Given the description of an element on the screen output the (x, y) to click on. 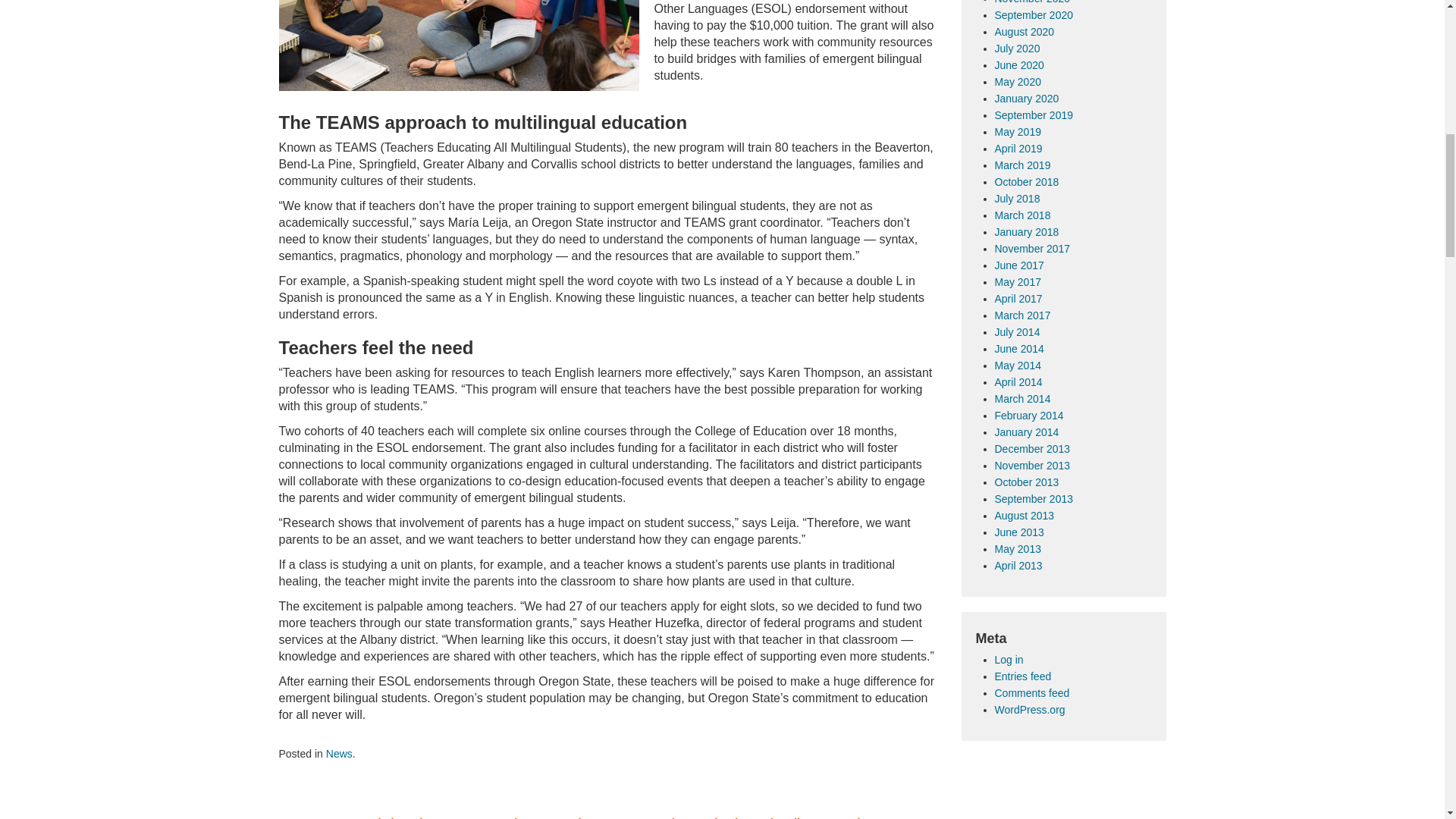
News (339, 753)
